Given the description of an element on the screen output the (x, y) to click on. 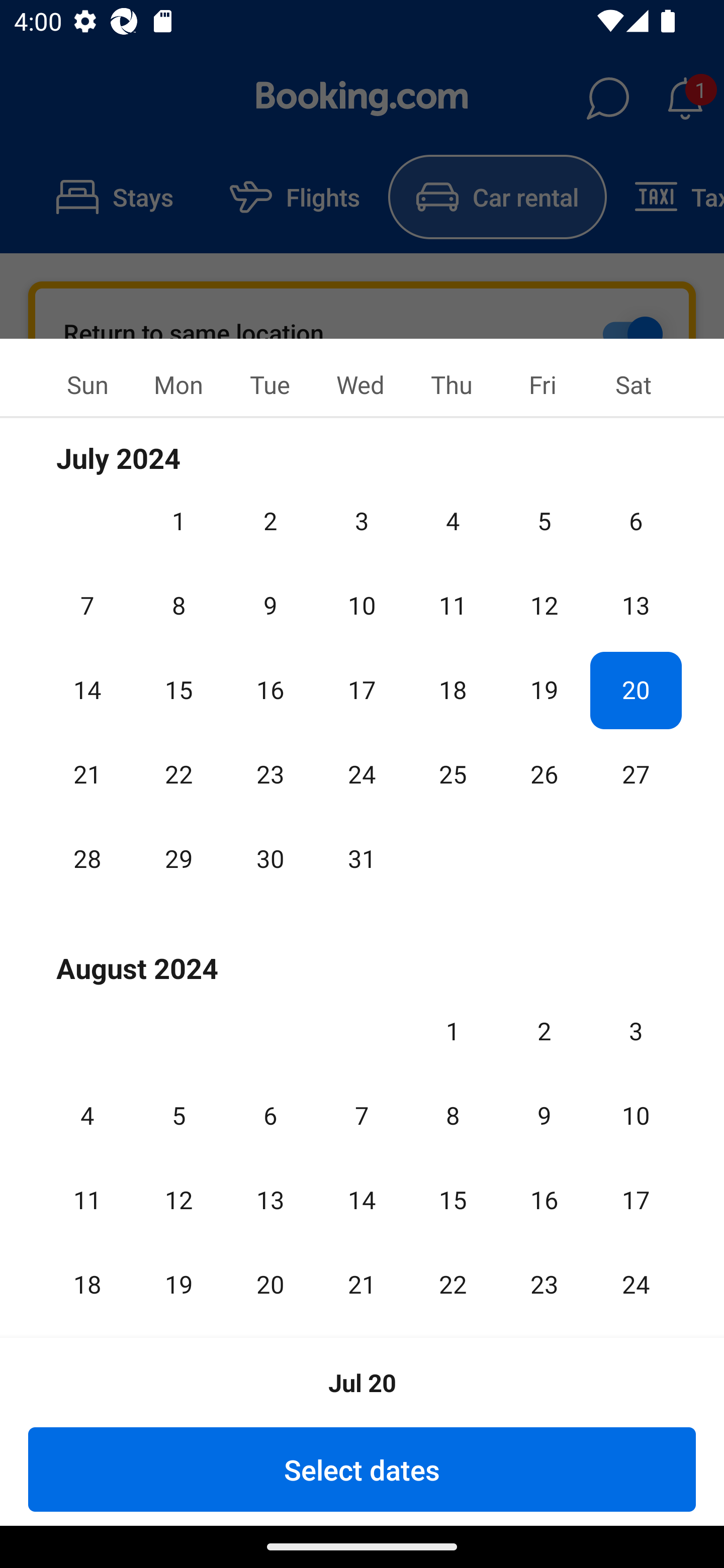
Select dates (361, 1468)
